Given the description of an element on the screen output the (x, y) to click on. 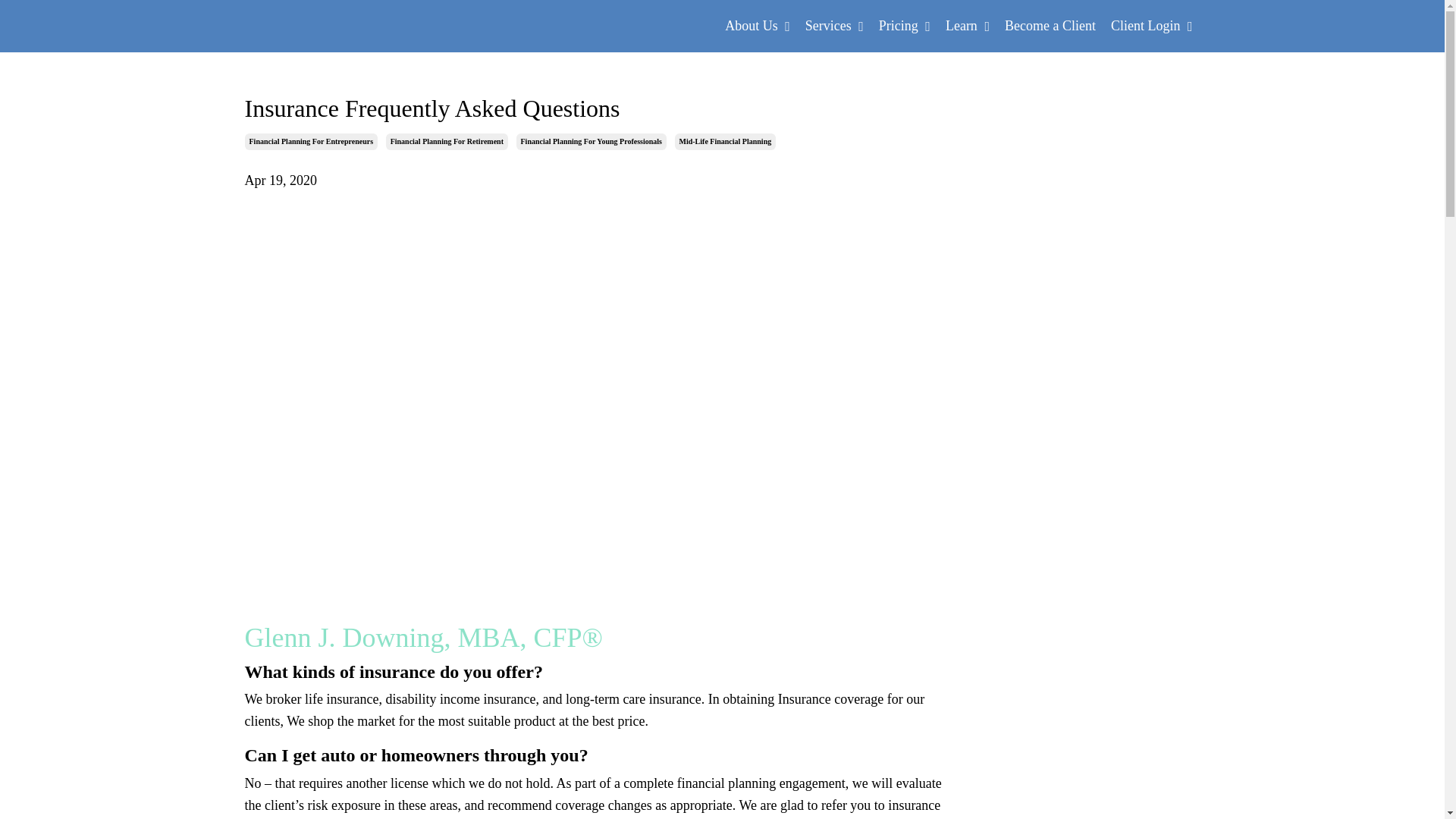
About Us (757, 25)
Learn (967, 25)
Mid-Life Financial Planning (725, 141)
Financial Planning For Retirement (446, 141)
Become a Client (1050, 25)
Financial Planning For Young Professionals (590, 141)
Client Login (1151, 25)
Financial Planning For Entrepreneurs (310, 141)
Pricing (904, 25)
Services (834, 25)
